Given the description of an element on the screen output the (x, y) to click on. 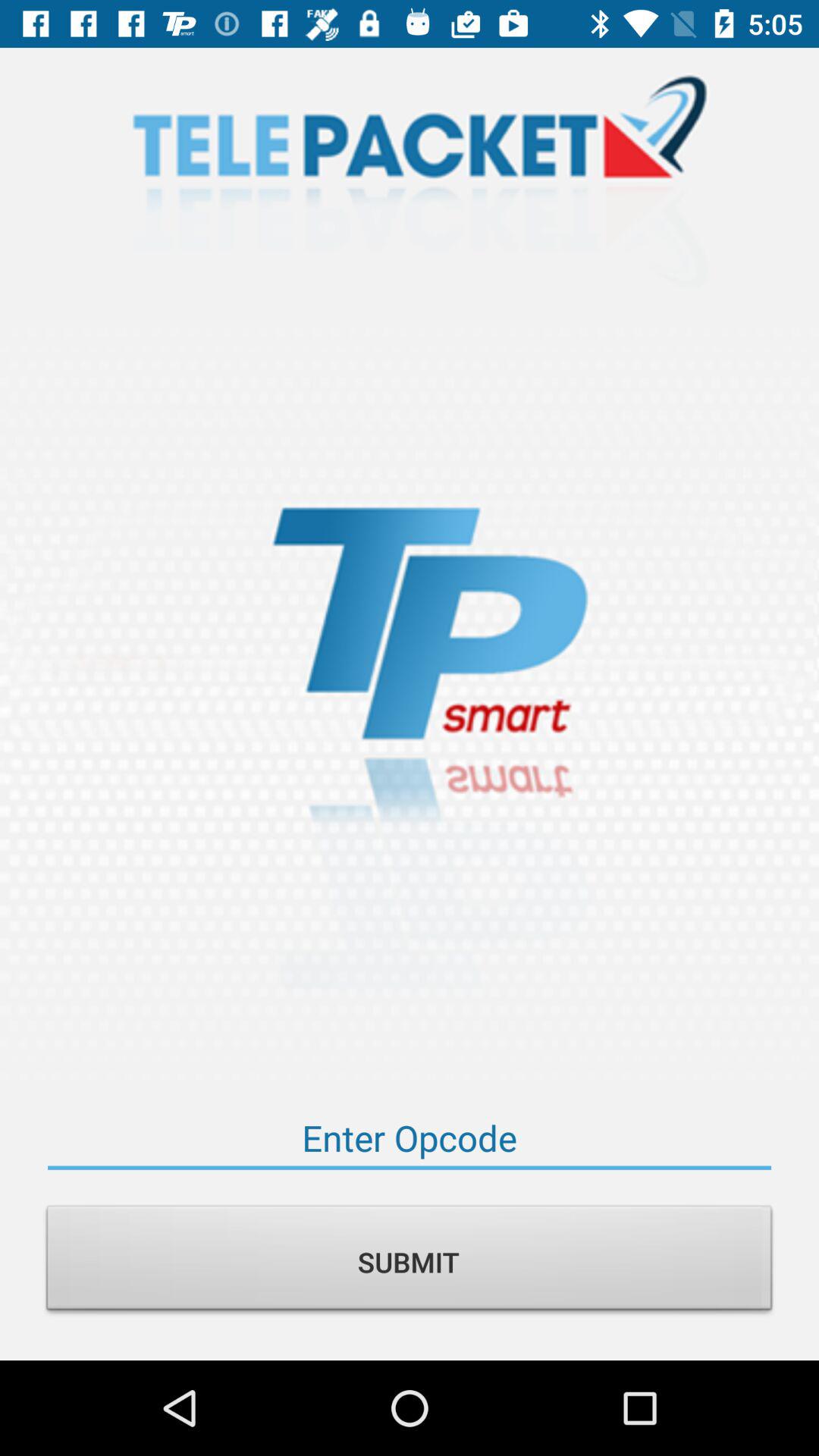
enter code (409, 1138)
